Given the description of an element on the screen output the (x, y) to click on. 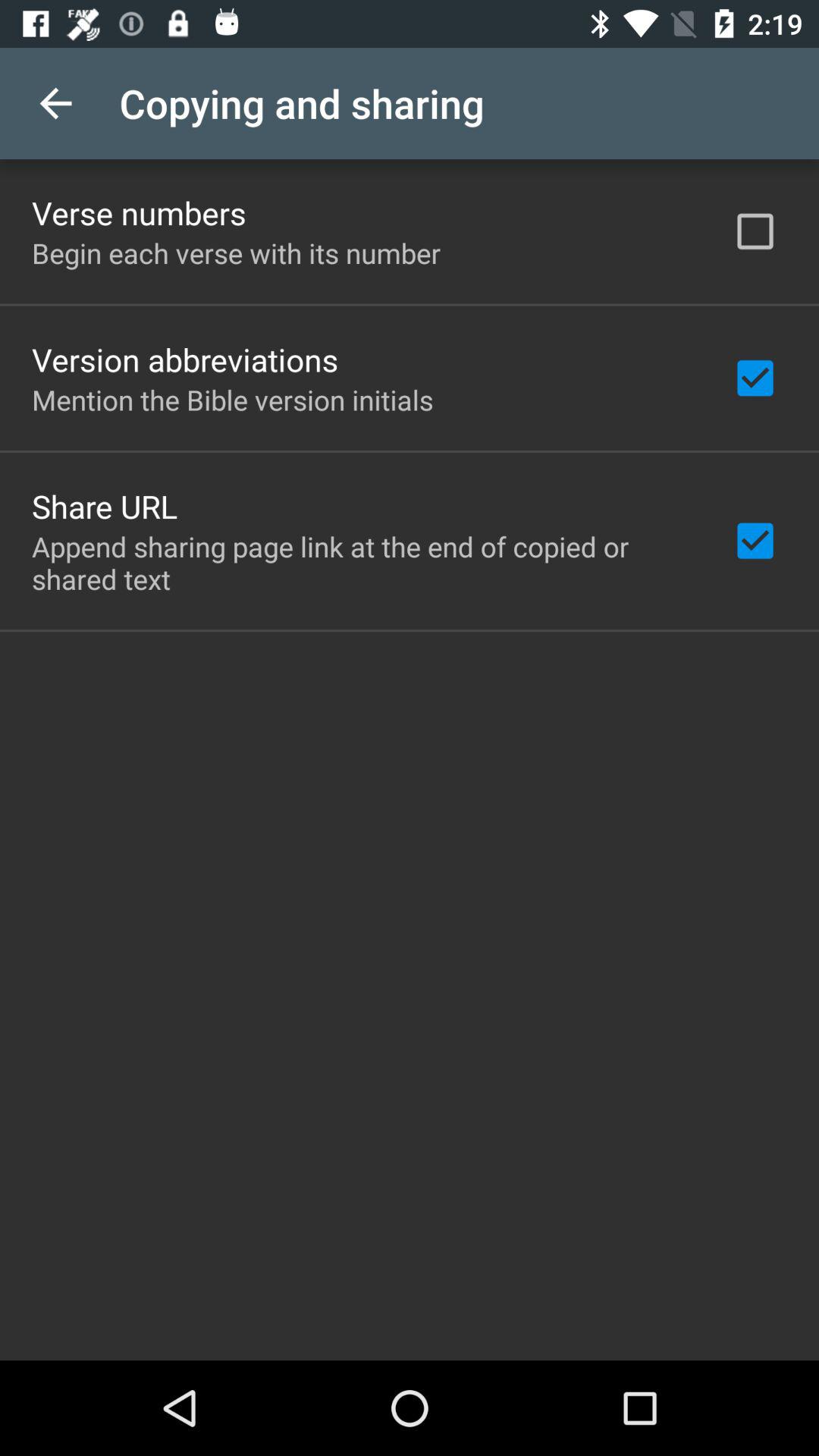
turn on the icon next to the copying and sharing app (55, 103)
